Given the description of an element on the screen output the (x, y) to click on. 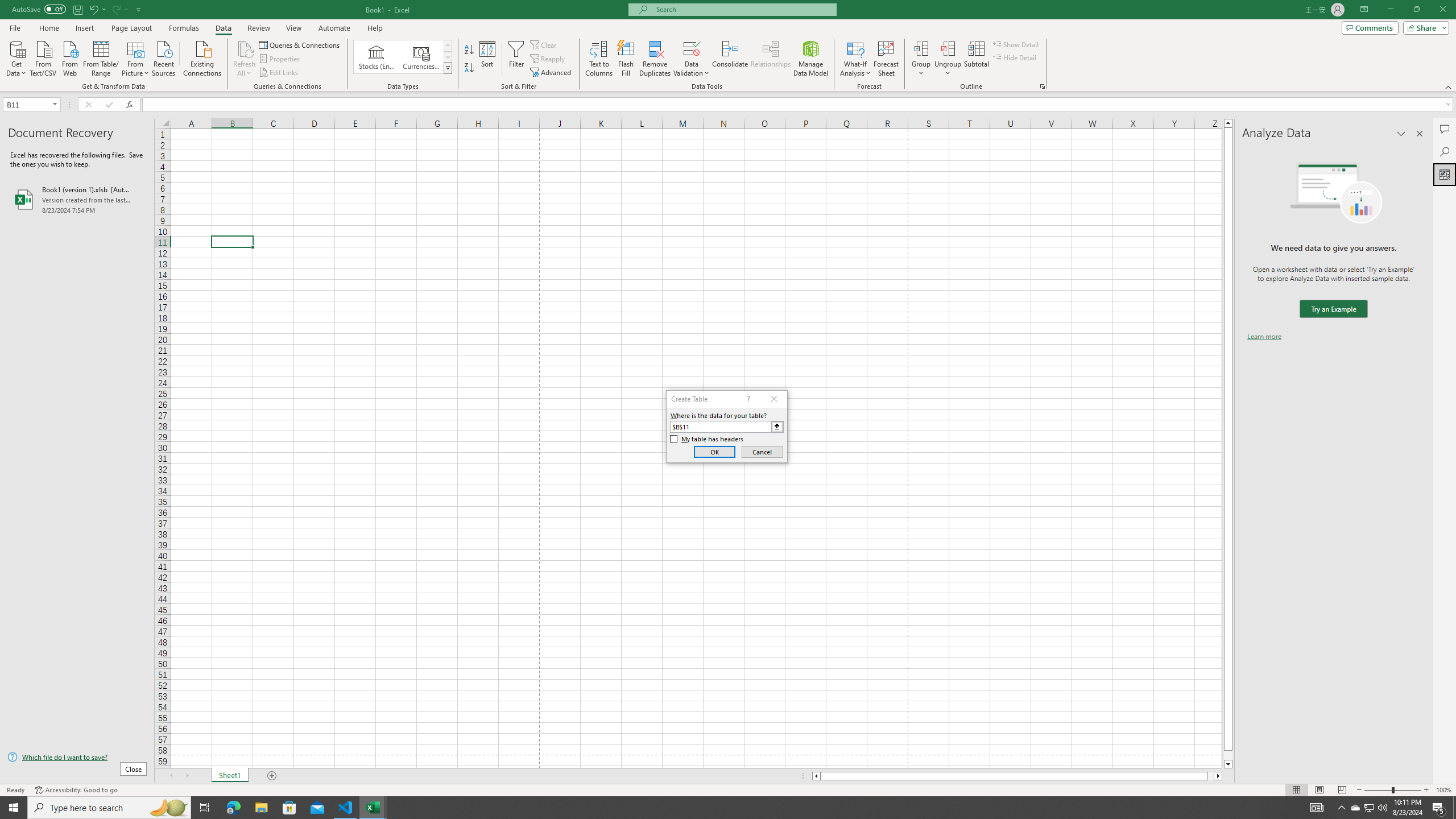
From Web (69, 57)
Ungroup... (947, 48)
Row up (448, 45)
Reapply (548, 58)
Book1 (version 1).xlsb  [AutoRecovered] (77, 199)
Class: NetUIImage (447, 68)
Stocks (English) (375, 56)
